Given the description of an element on the screen output the (x, y) to click on. 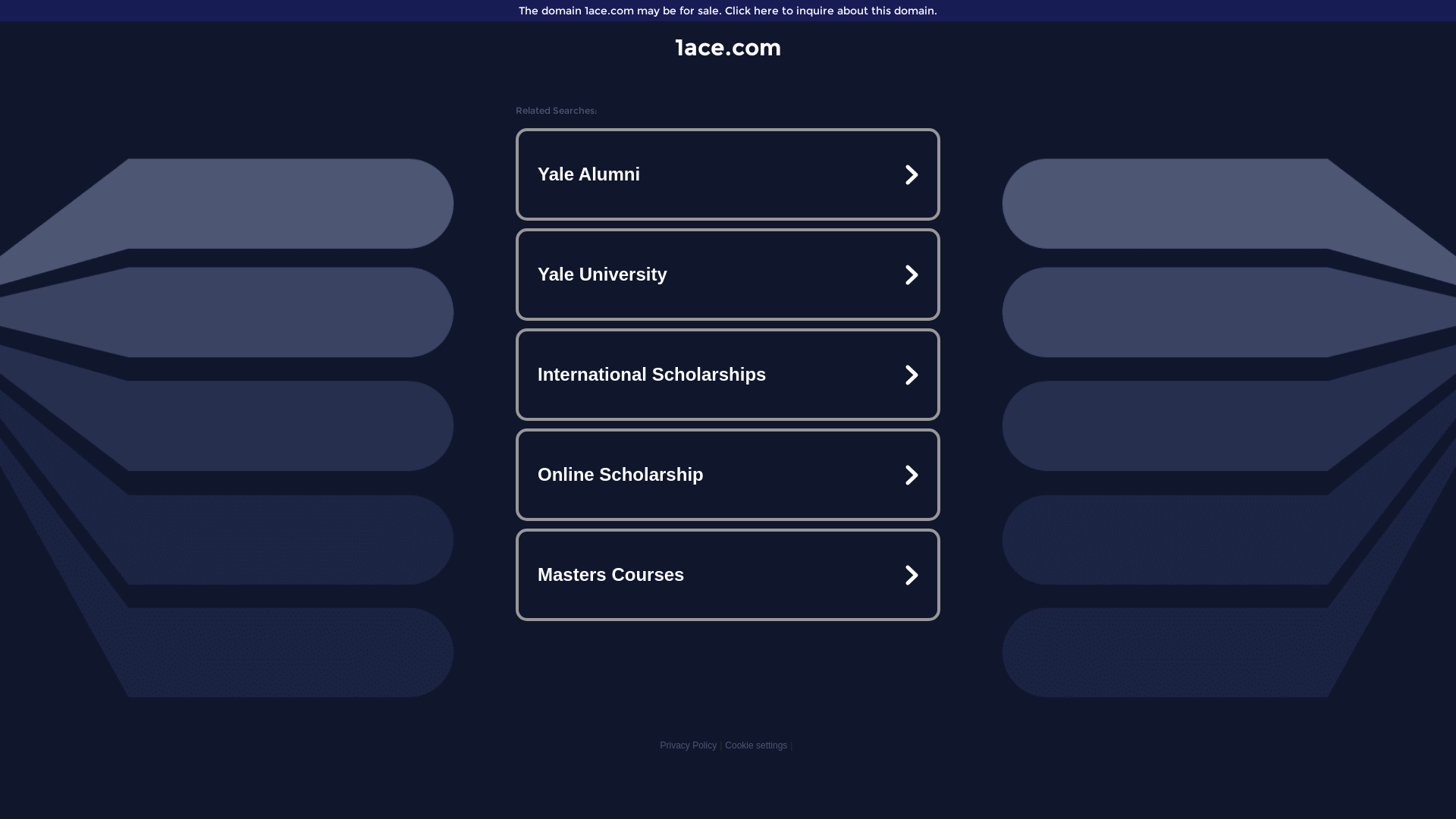
International Scholarships Element type: text (727, 374)
Masters Courses Element type: text (727, 574)
Yale Alumni Element type: text (727, 174)
Cookie settings Element type: text (755, 745)
Privacy Policy Element type: text (687, 745)
Yale University Element type: text (727, 274)
Online Scholarship Element type: text (727, 474)
1ace.com Element type: text (727, 47)
